Given the description of an element on the screen output the (x, y) to click on. 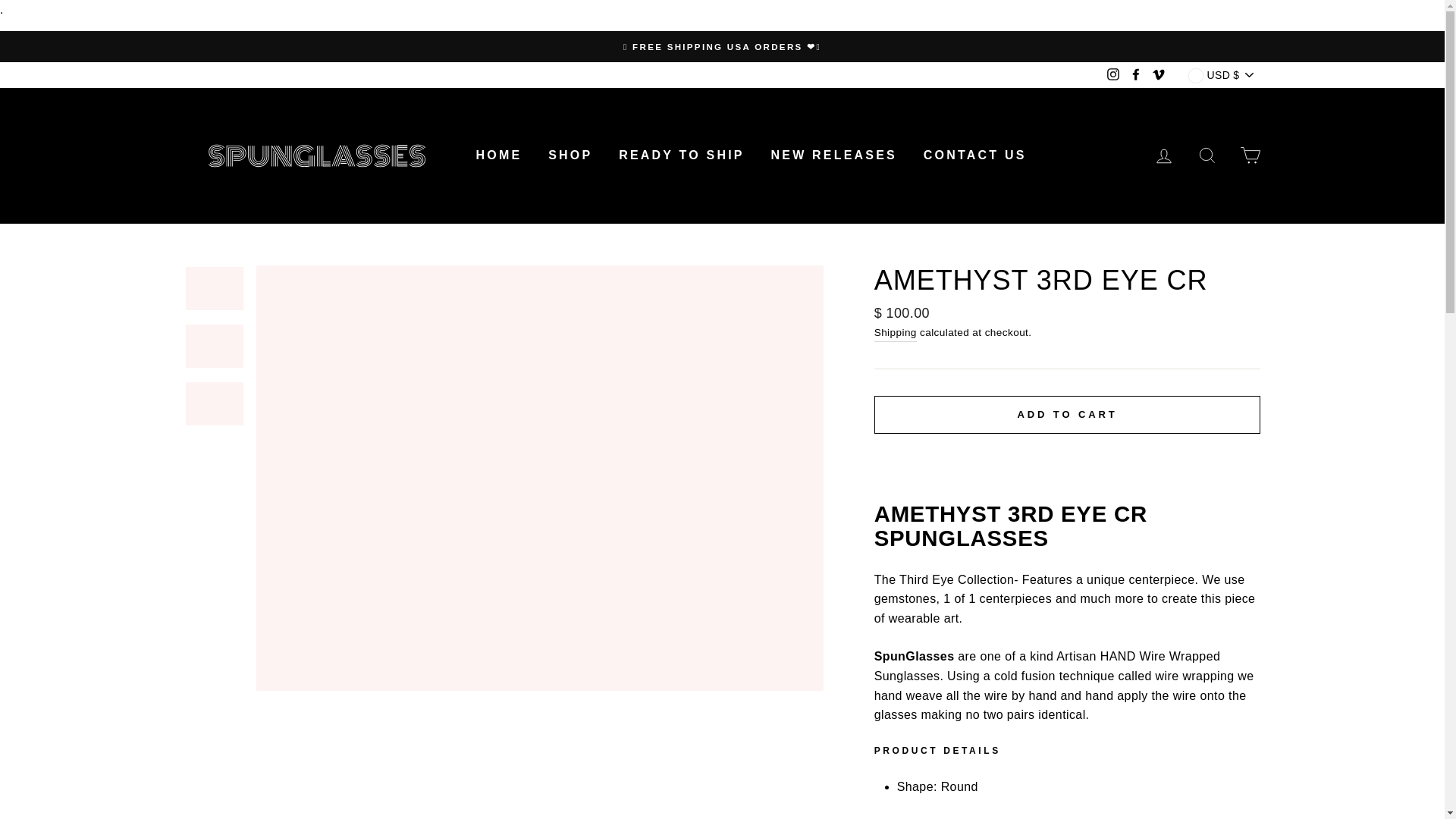
Spunglasses on Instagram (1112, 74)
Facebook (1135, 74)
Spunglasses on Facebook (1135, 74)
Vimeo (1158, 74)
Instagram (1112, 74)
Spunglasses on Vimeo (1158, 74)
